Given the description of an element on the screen output the (x, y) to click on. 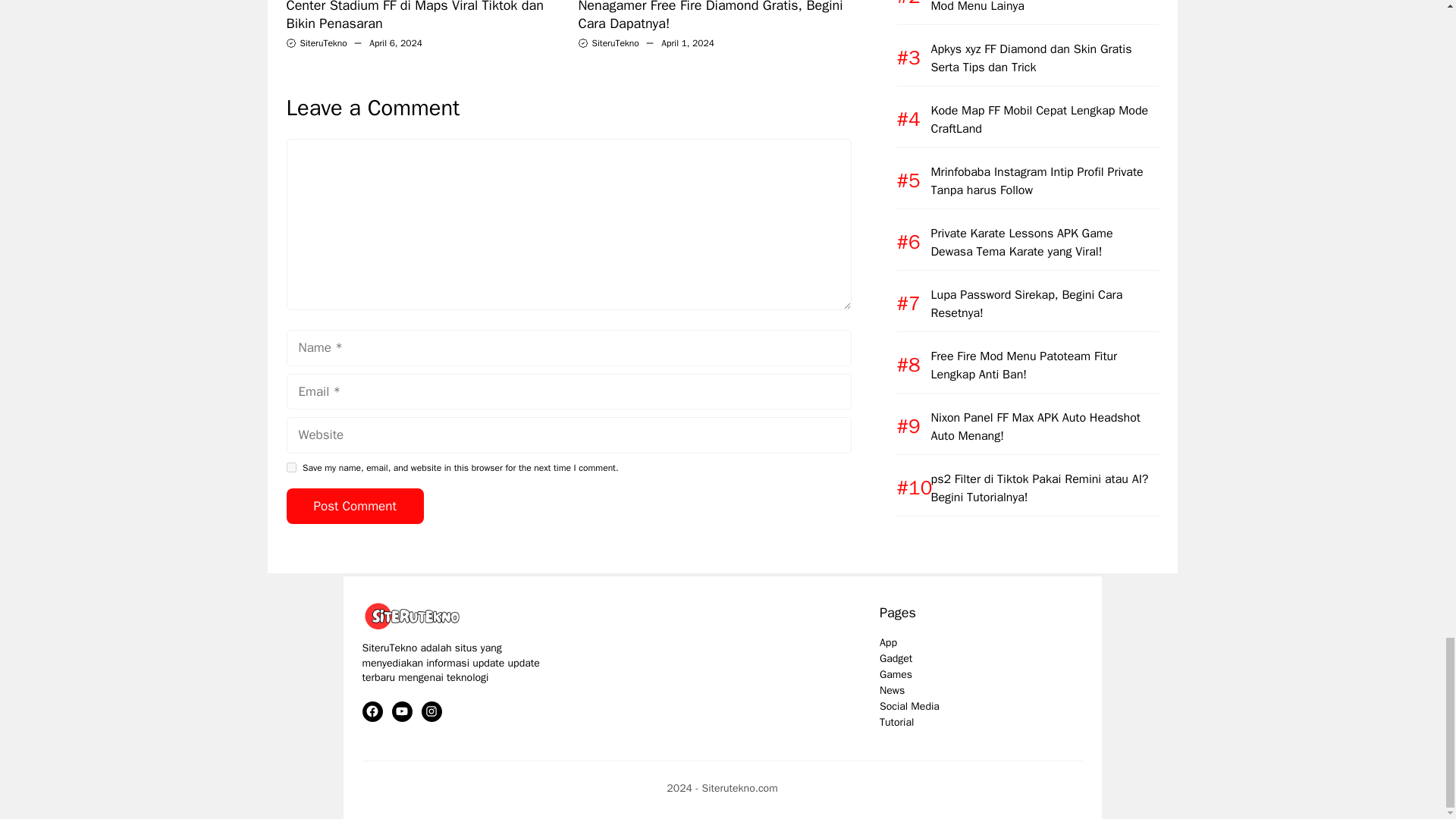
SiteruTekno (323, 42)
Nenagamer Free Fire Diamond Gratis, Begini Cara Dapatnya! (710, 15)
Post Comment (354, 506)
Center Stadium FF di Maps Viral Tiktok dan Bikin Penasaran (414, 15)
yes (291, 467)
